Given the description of an element on the screen output the (x, y) to click on. 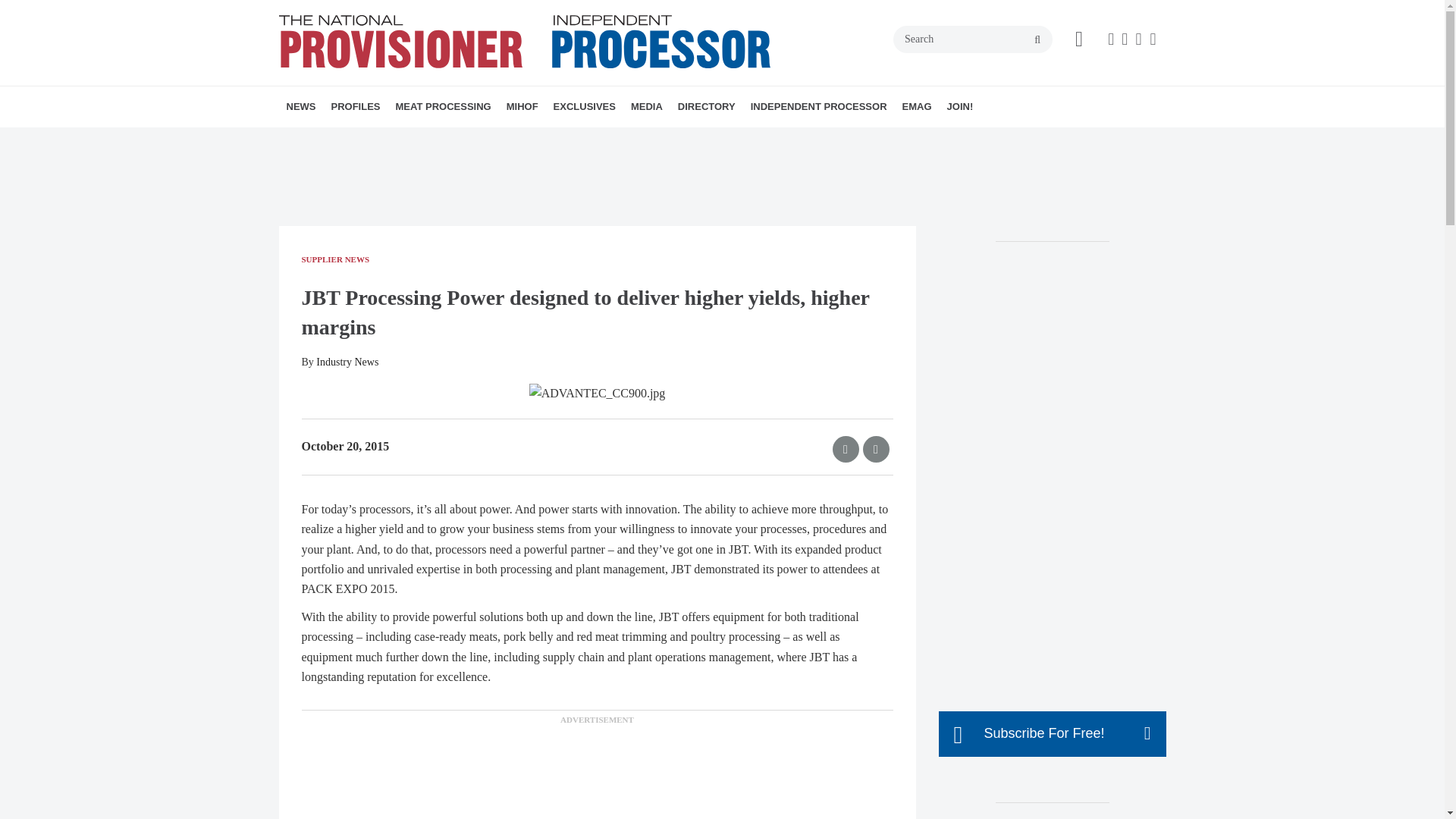
EVENTS (647, 139)
SUSTAINABILITY (483, 139)
FORMULATION (506, 139)
REGULATIONS (397, 139)
PROCESSOR PROFILES (417, 139)
NEWS (301, 106)
COMMENTARY (516, 139)
WEBINARS (653, 139)
TOP 100 PROCESSORS (430, 139)
NEW CONSUMER PRODUCTS (400, 139)
MEAT PROCESSING (443, 106)
FOOD SAFETY (509, 139)
PROCESSING (489, 139)
RECALLS (391, 139)
Search (972, 39)
